Given the description of an element on the screen output the (x, y) to click on. 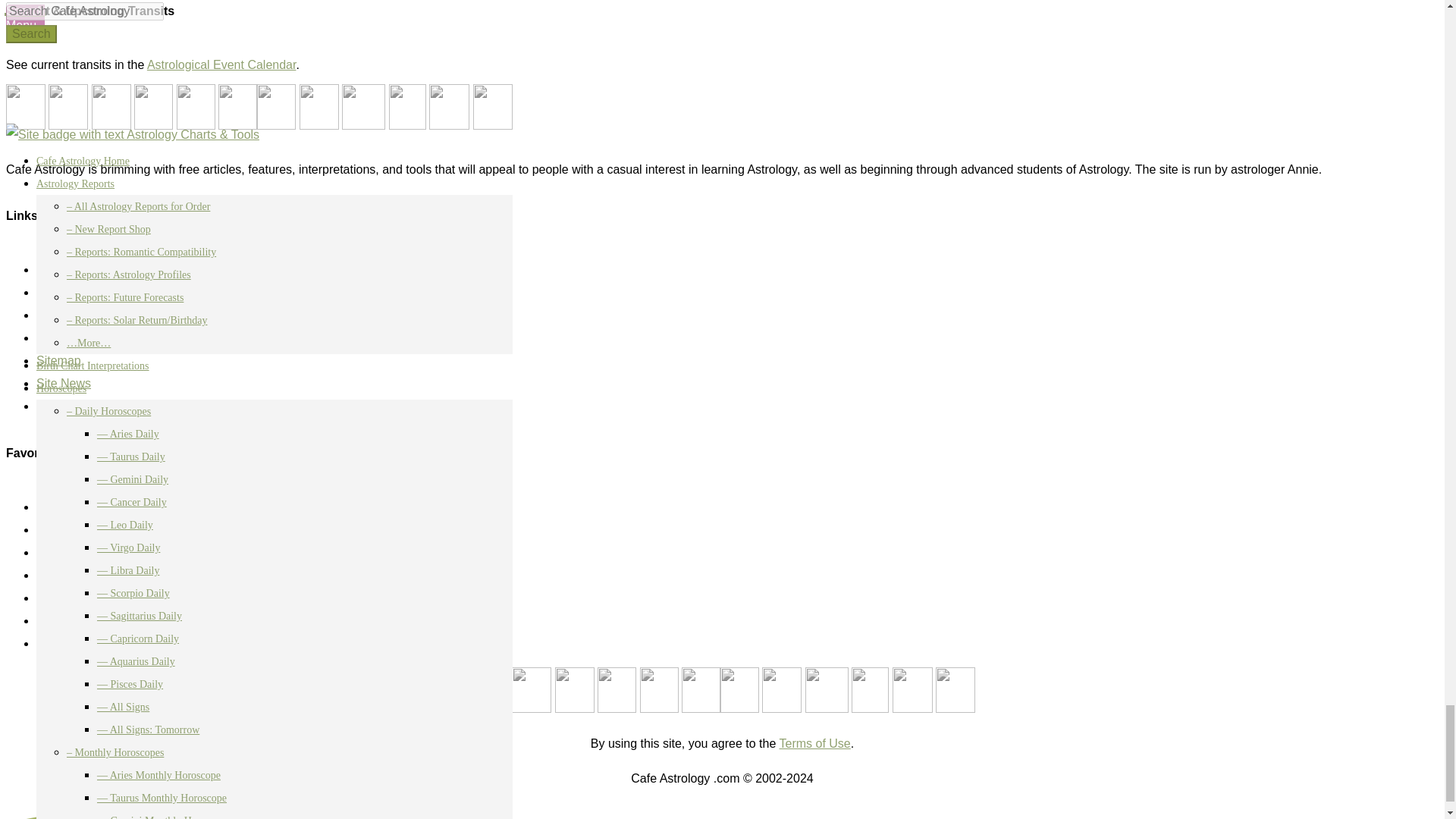
Scorpio (781, 689)
Cancer (616, 689)
Sagittarius (826, 689)
Capricorn (869, 689)
Virgo (700, 689)
Gemini (574, 689)
Libra (739, 689)
Daily Horoscopes (83, 552)
Aries (488, 689)
Taurus (531, 689)
Leo (659, 689)
